Given the description of an element on the screen output the (x, y) to click on. 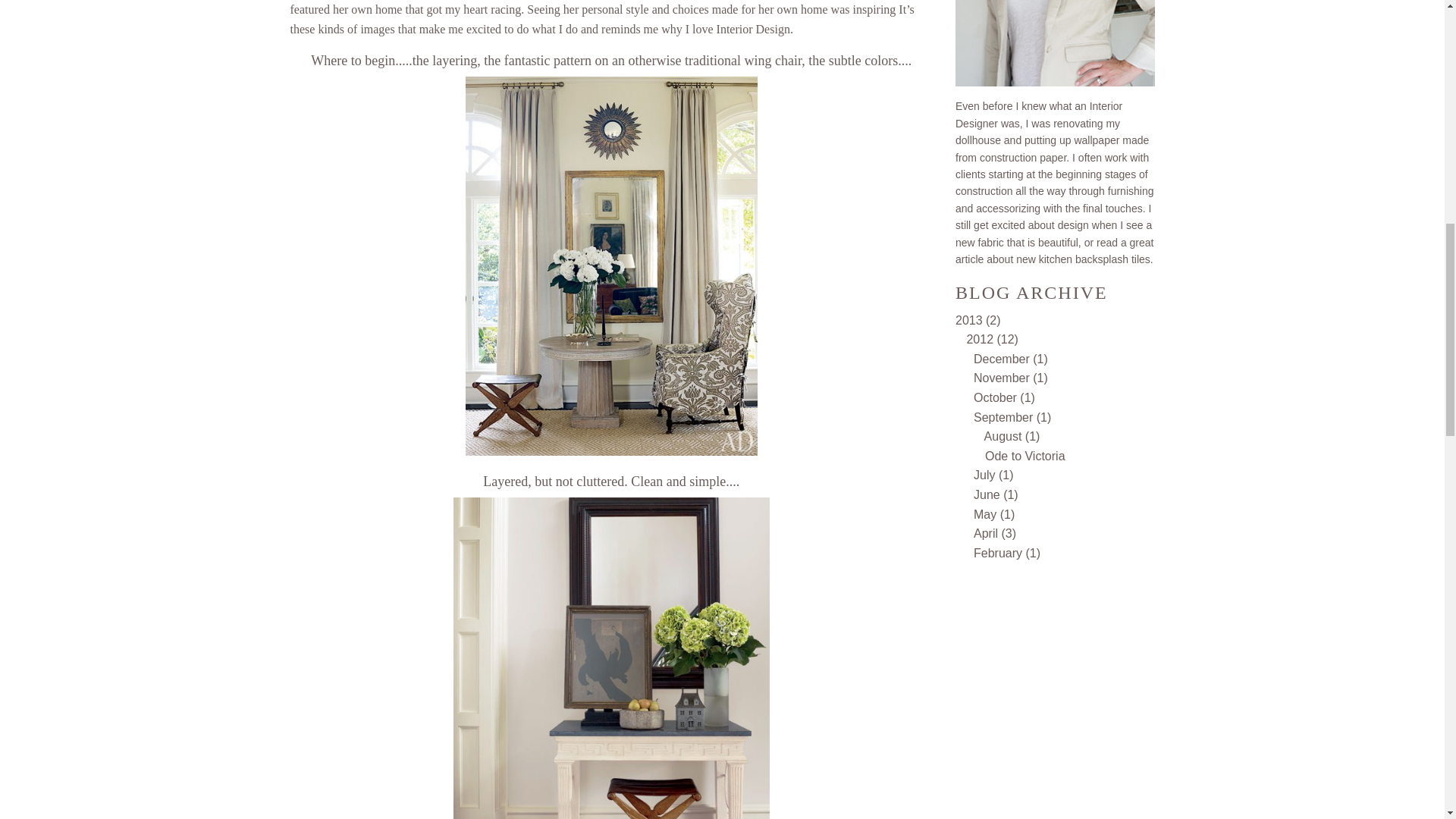
Ode to Victoria (1025, 455)
